Given the description of an element on the screen output the (x, y) to click on. 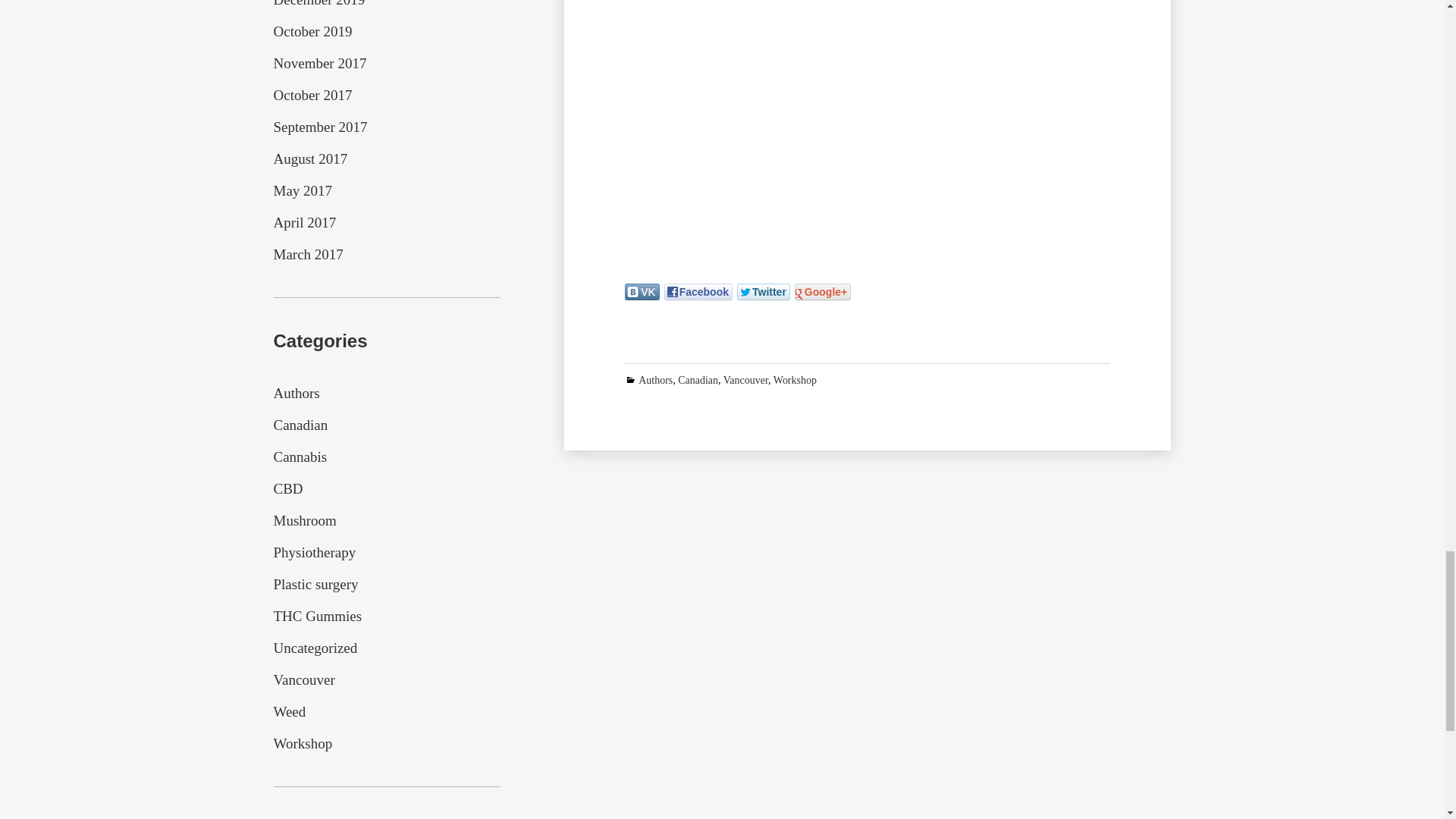
Share link on Facebook (697, 291)
Share link on VK (641, 291)
Share link on Twitter (763, 291)
